Given the description of an element on the screen output the (x, y) to click on. 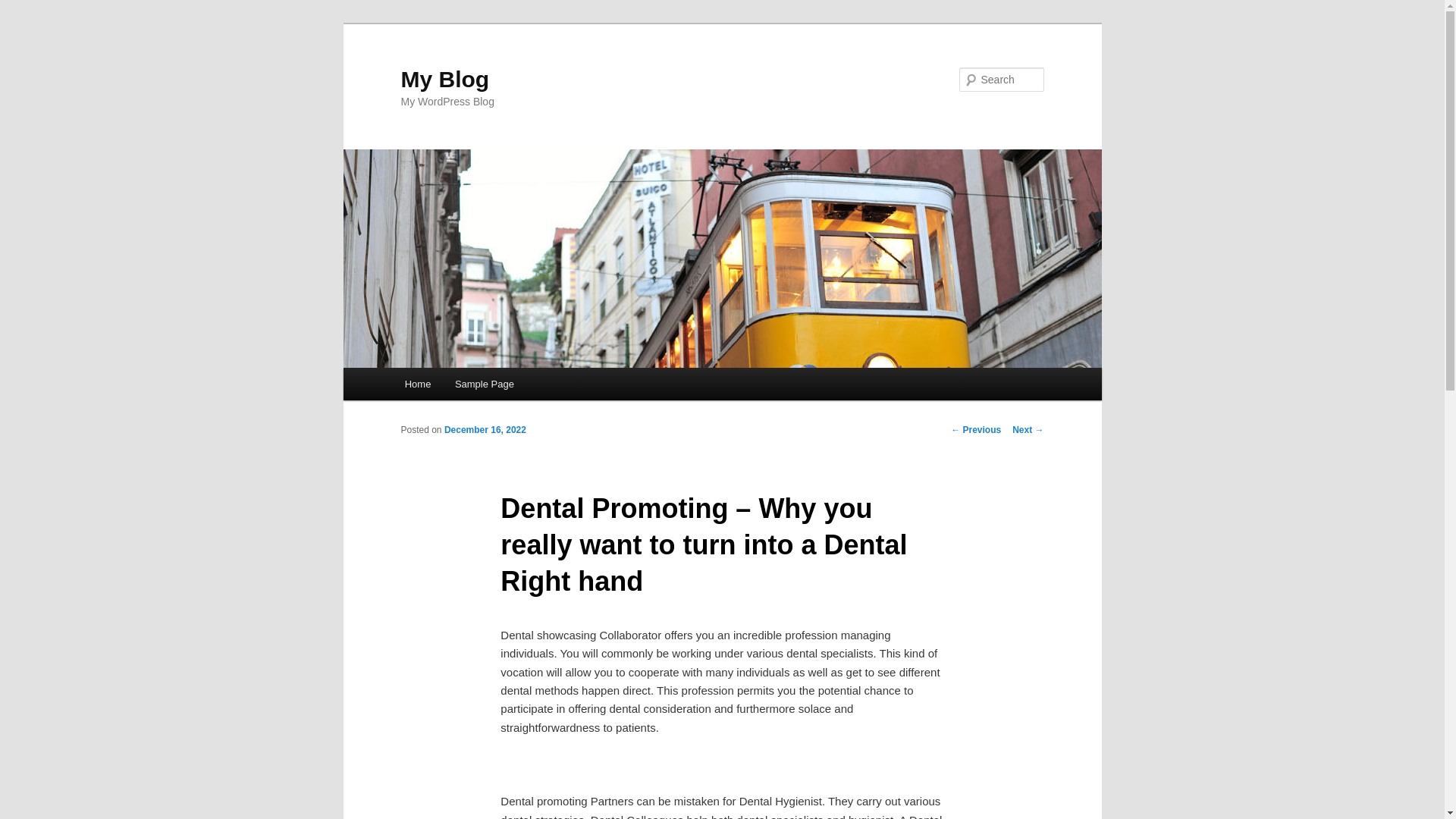
9:59 pm (484, 429)
My Blog (444, 78)
Sample Page (483, 383)
Home (417, 383)
Search (24, 8)
December 16, 2022 (484, 429)
